Given the description of an element on the screen output the (x, y) to click on. 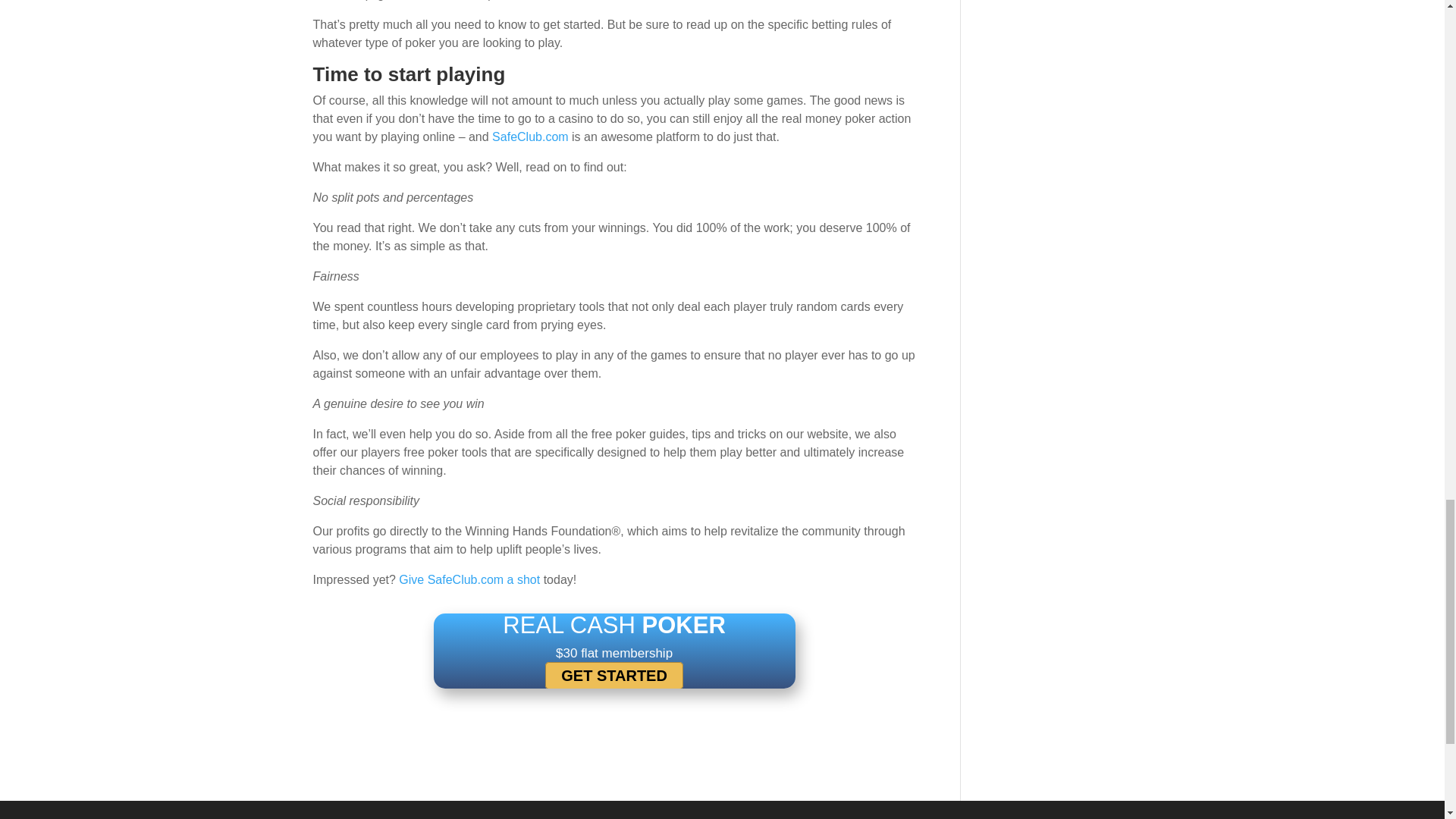
SafeClub.com (530, 136)
GET STARTED (613, 675)
Give SafeClub.com a shot (469, 579)
